Given the description of an element on the screen output the (x, y) to click on. 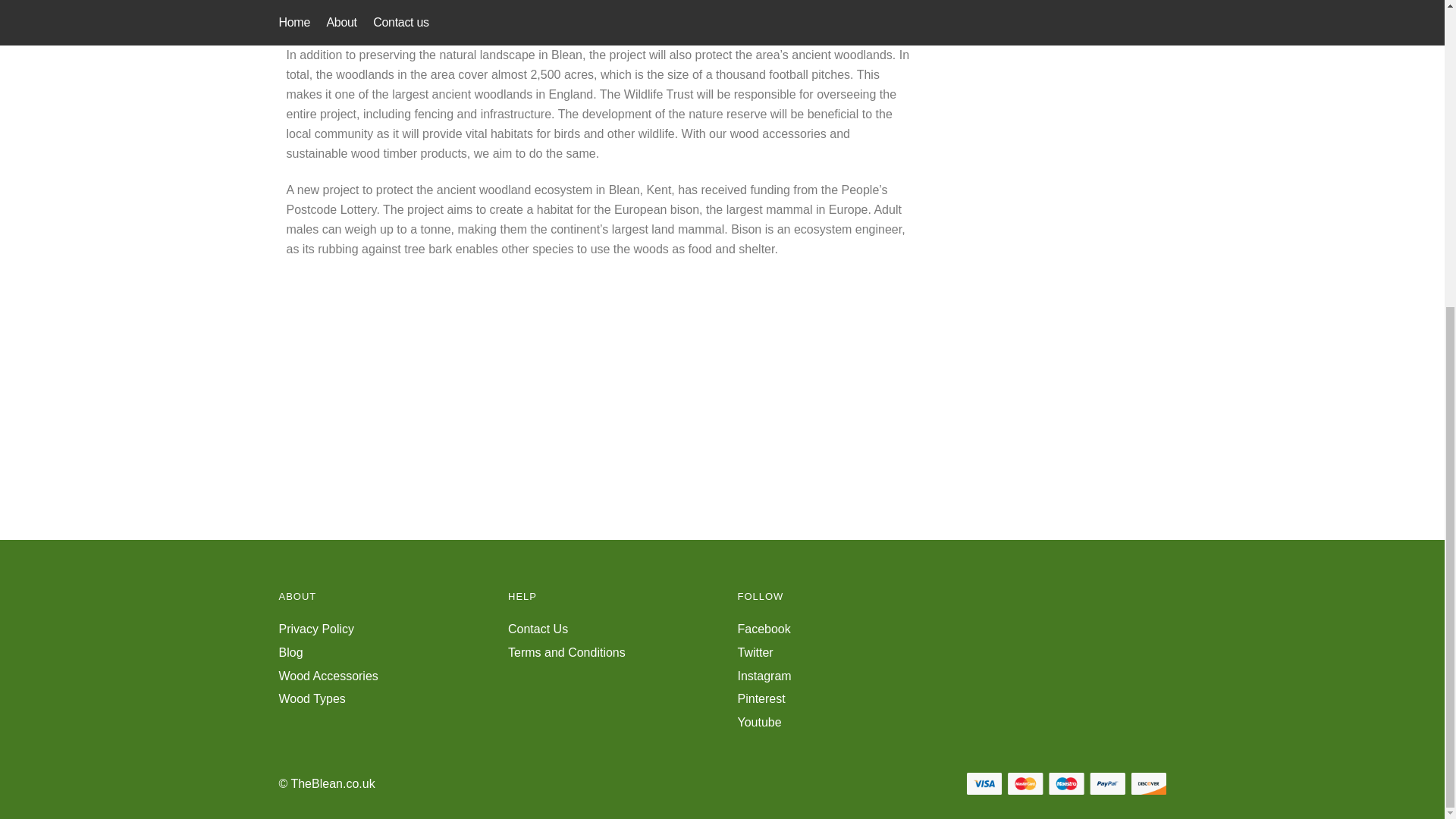
Blog (290, 652)
Terms and Conditions (567, 652)
Youtube (758, 721)
Wood Accessories (328, 675)
Instagram (763, 675)
Contact Us (537, 628)
Twitter (754, 652)
Facebook (763, 628)
Pinterest (760, 698)
Wood Types (312, 698)
